Given the description of an element on the screen output the (x, y) to click on. 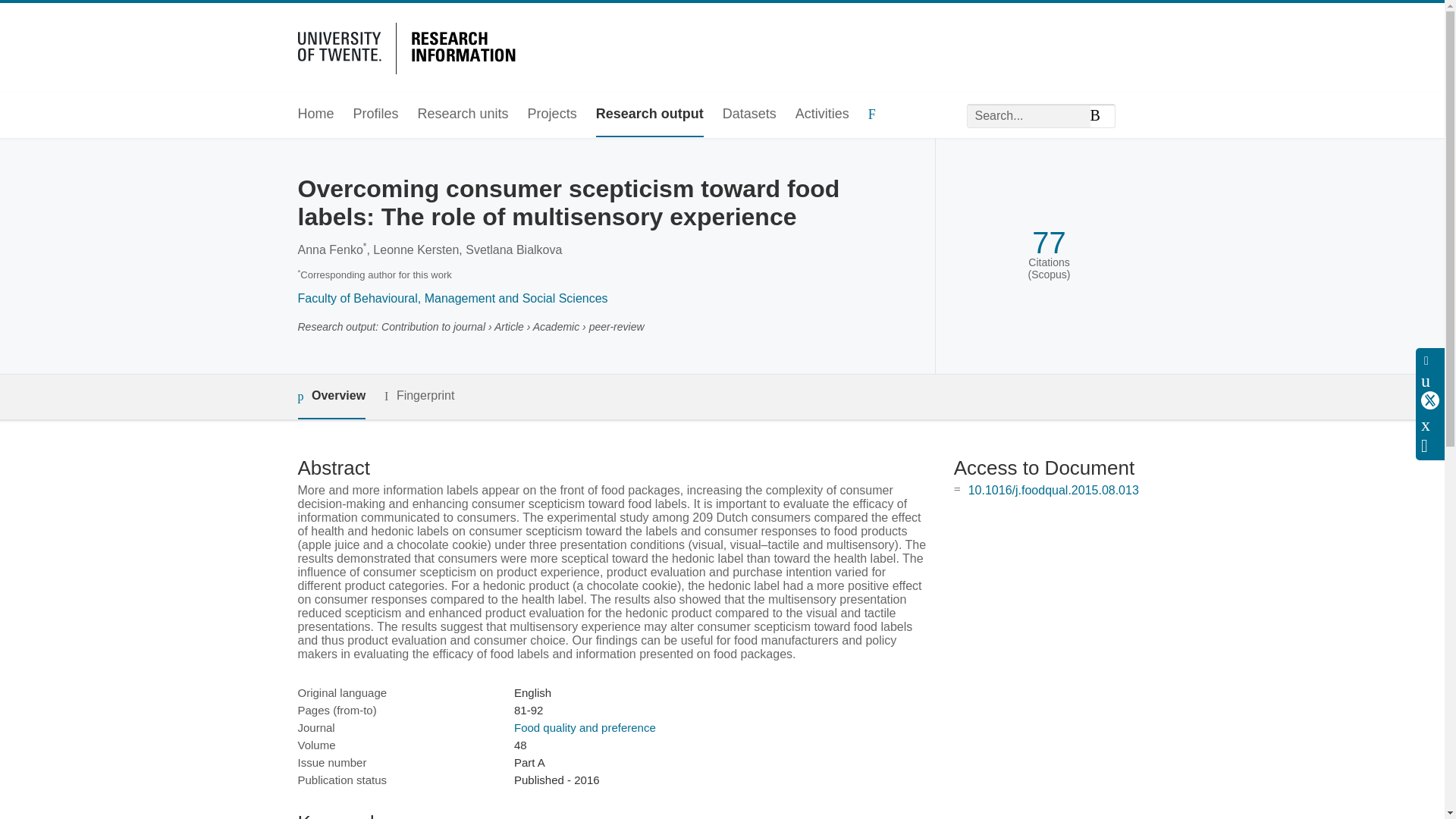
Food quality and preference (584, 727)
Faculty of Behavioural, Management and Social Sciences (452, 297)
Fingerprint (419, 395)
Profiles (375, 114)
Datasets (749, 114)
Projects (551, 114)
University of Twente Research Information Home (409, 45)
77 (1048, 243)
Activities (821, 114)
Overview (331, 396)
Research units (462, 114)
Research output (649, 114)
